Given the description of an element on the screen output the (x, y) to click on. 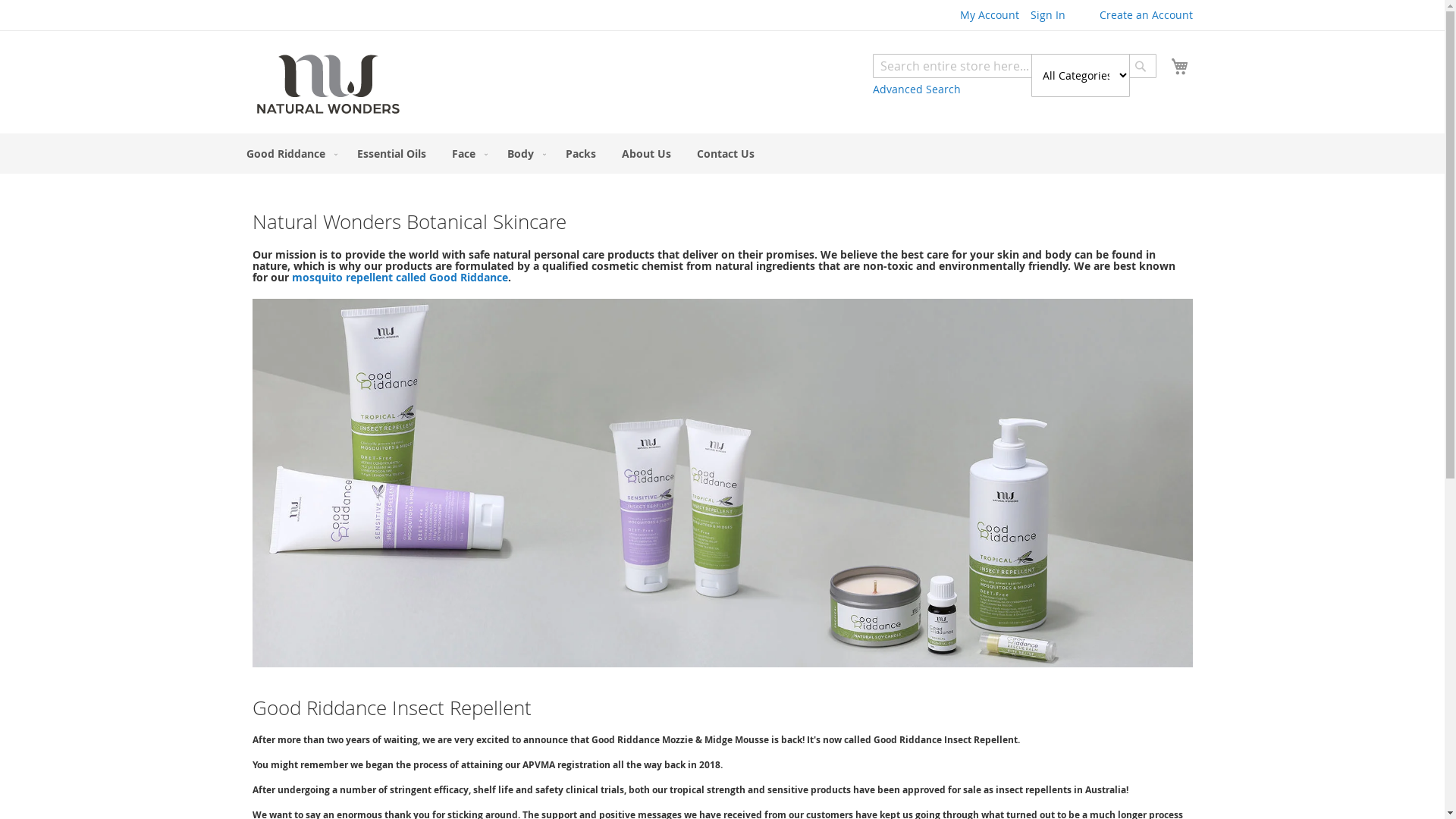
Skip to Content Element type: text (251, 6)
Create an Account Element type: text (1145, 14)
Good Riddance Element type: text (287, 153)
About Us Element type: text (646, 153)
Face Element type: text (466, 153)
Body Element type: text (522, 153)
Search Element type: text (1139, 65)
My Account Element type: text (989, 14)
Packs Element type: text (580, 153)
Advanced Search Element type: text (916, 88)
My Cart Element type: text (1179, 65)
mosquito repellent called Good Riddance Element type: text (399, 276)
Essential Oils Element type: text (390, 153)
Contact Us Element type: text (724, 153)
Sign In Element type: text (1046, 14)
